Given the description of an element on the screen output the (x, y) to click on. 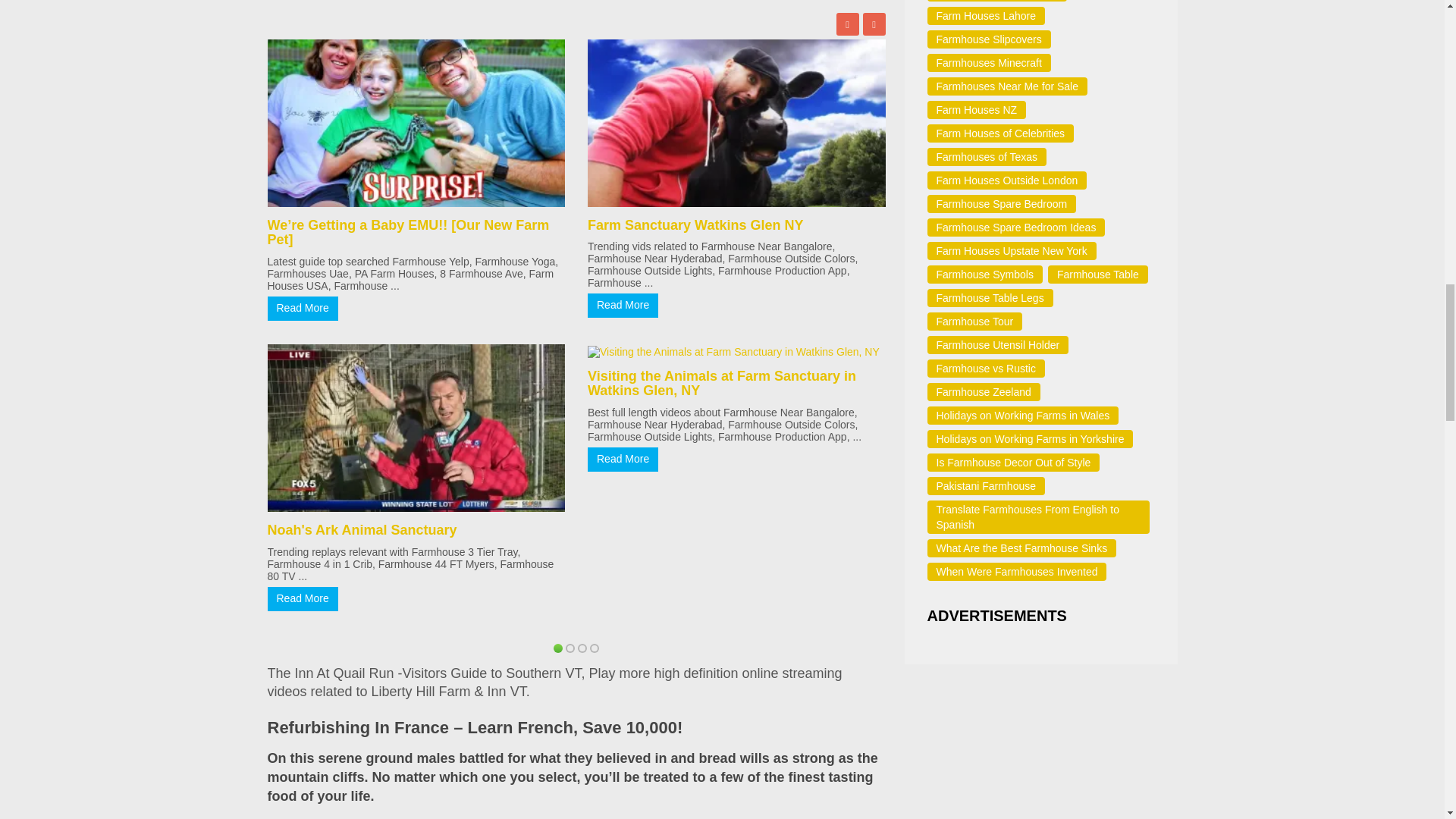
Visiting the Animals at Farm Sanctuary in Watkins Glen, NY (722, 383)
Noah's Ark Animal Sanctuary (361, 529)
Read More (623, 305)
Read More (301, 308)
Farm Sanctuary Watkins Glen NY (695, 224)
Read More (301, 598)
Read More (623, 459)
